Given the description of an element on the screen output the (x, y) to click on. 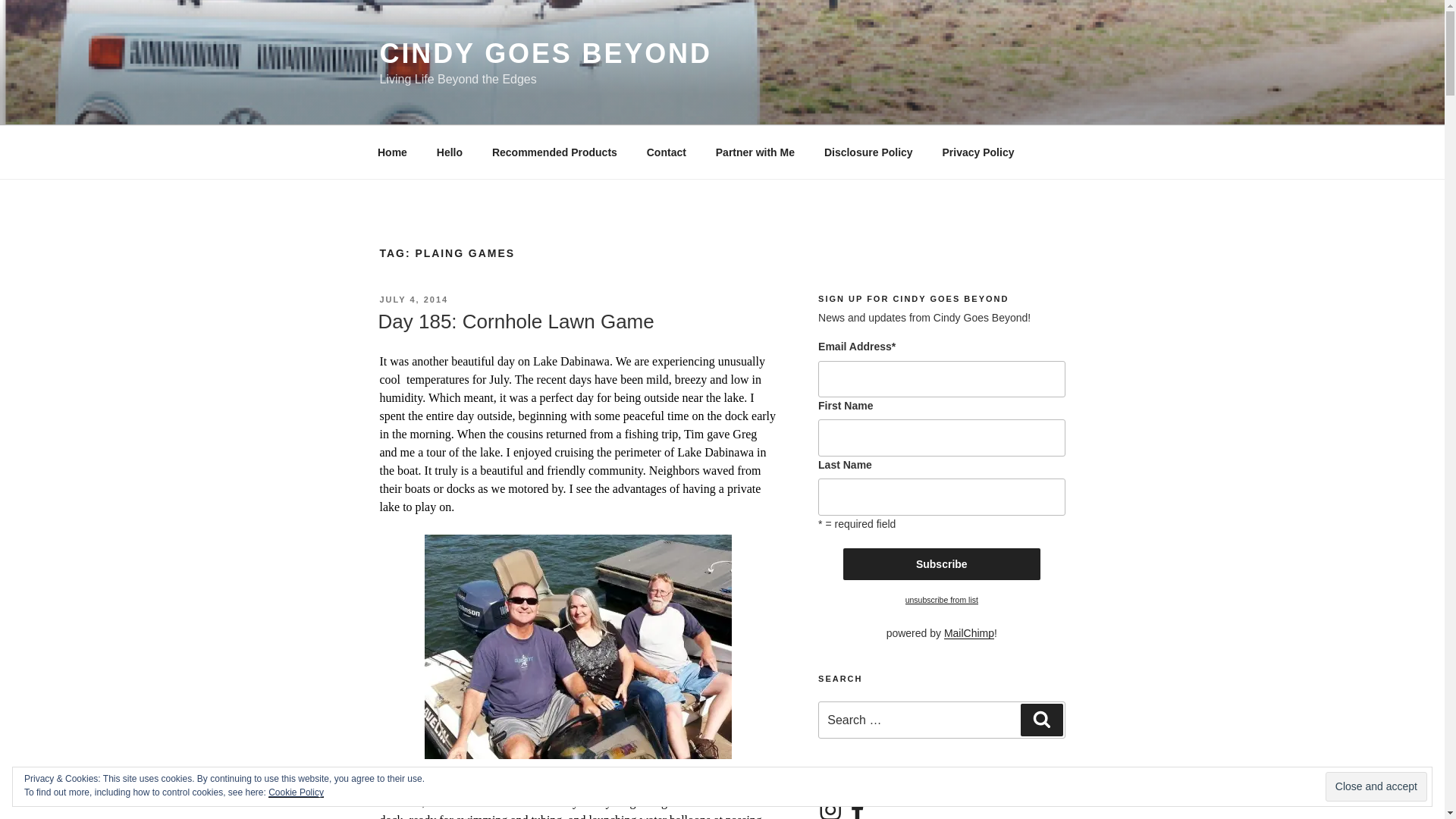
JULY 4, 2014 (413, 298)
Subscribe (942, 563)
Instagram (830, 808)
Contact (665, 151)
Home (392, 151)
Hello (449, 151)
Search (1041, 719)
unsubscribe from list (941, 599)
Privacy Policy (977, 151)
CINDY GOES BEYOND (544, 52)
Close and accept (1375, 786)
Day 185: Cornhole Lawn Game (515, 321)
Partner with Me (754, 151)
Recommended Products (554, 151)
Disclosure Policy (868, 151)
